Given the description of an element on the screen output the (x, y) to click on. 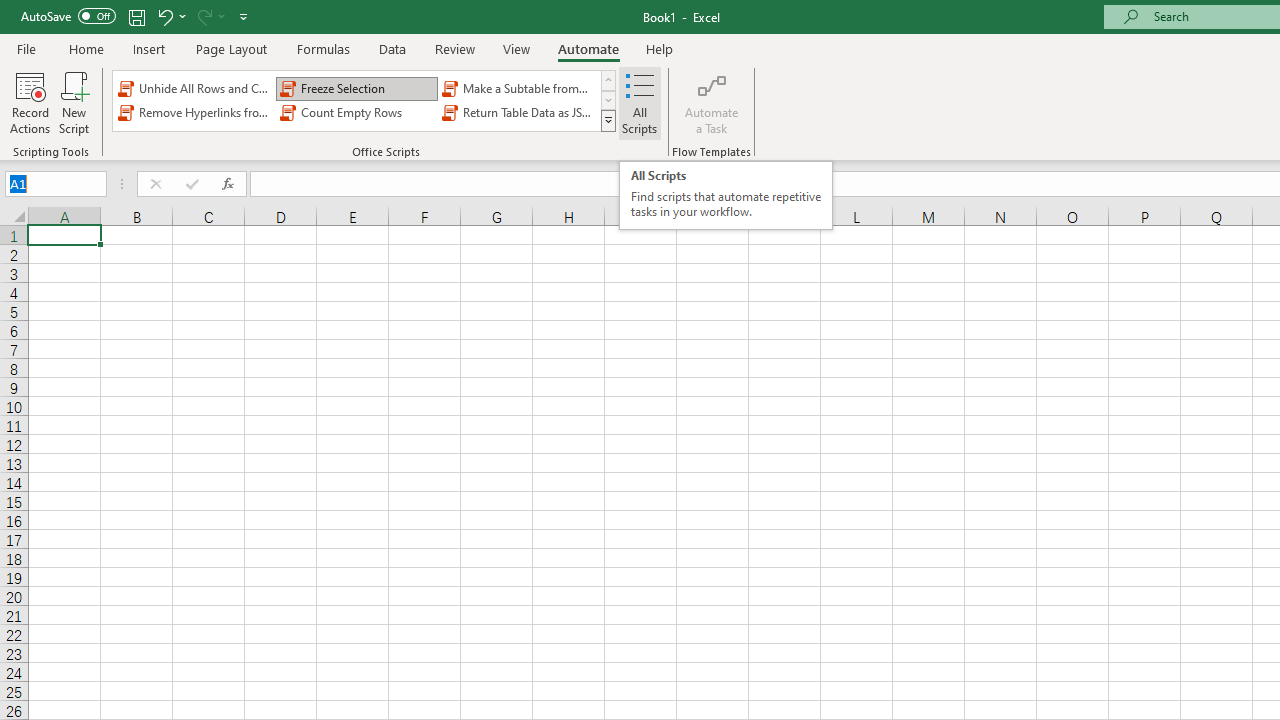
Automate (588, 48)
Open (96, 183)
Return Table Data as JSON (518, 112)
Data (392, 48)
AutoSave (68, 16)
Redo (209, 15)
Quick Access Toolbar (136, 16)
Row up (608, 79)
Insert (149, 48)
